Given the description of an element on the screen output the (x, y) to click on. 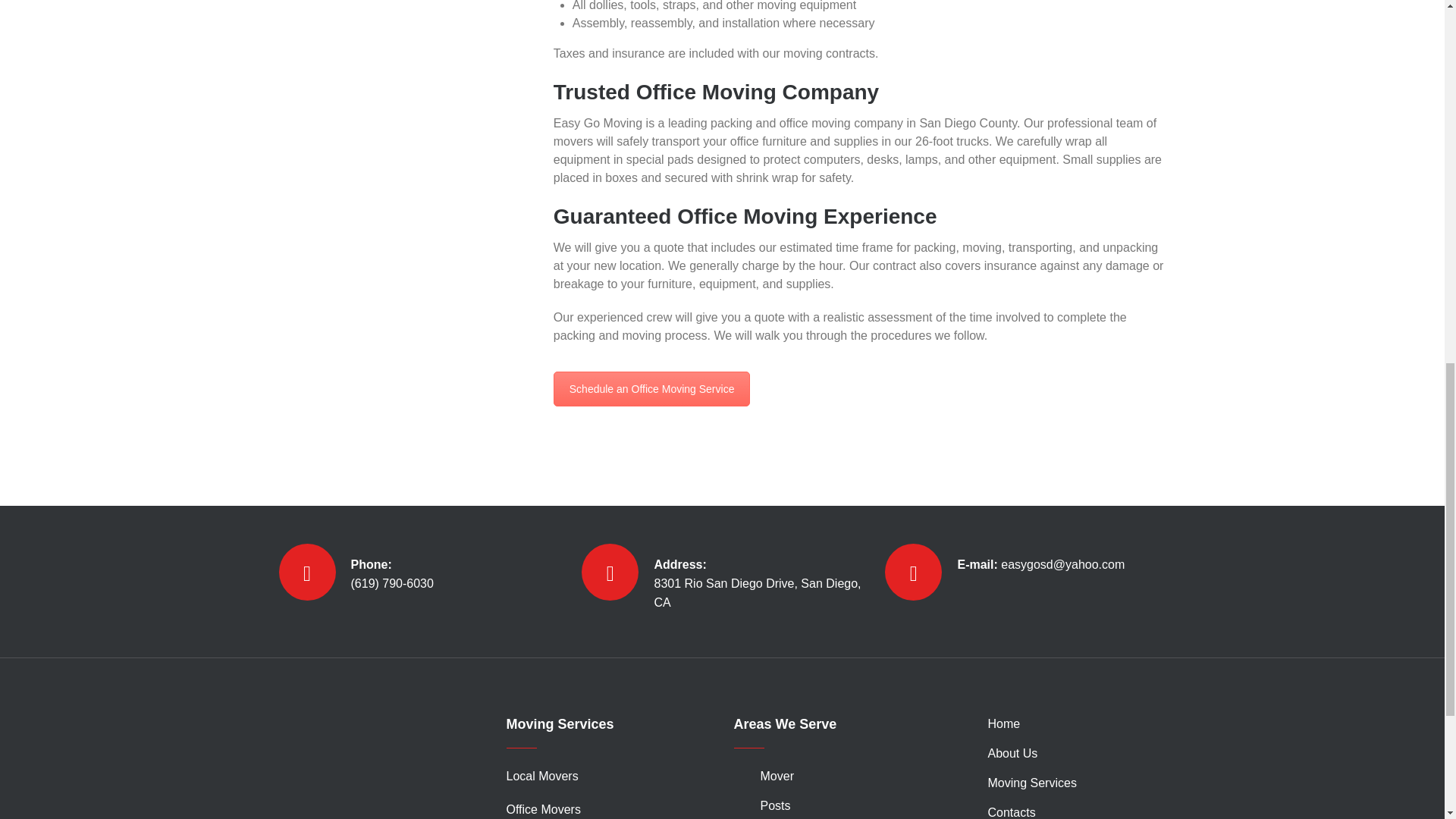
Contacts (652, 388)
